Given the description of an element on the screen output the (x, y) to click on. 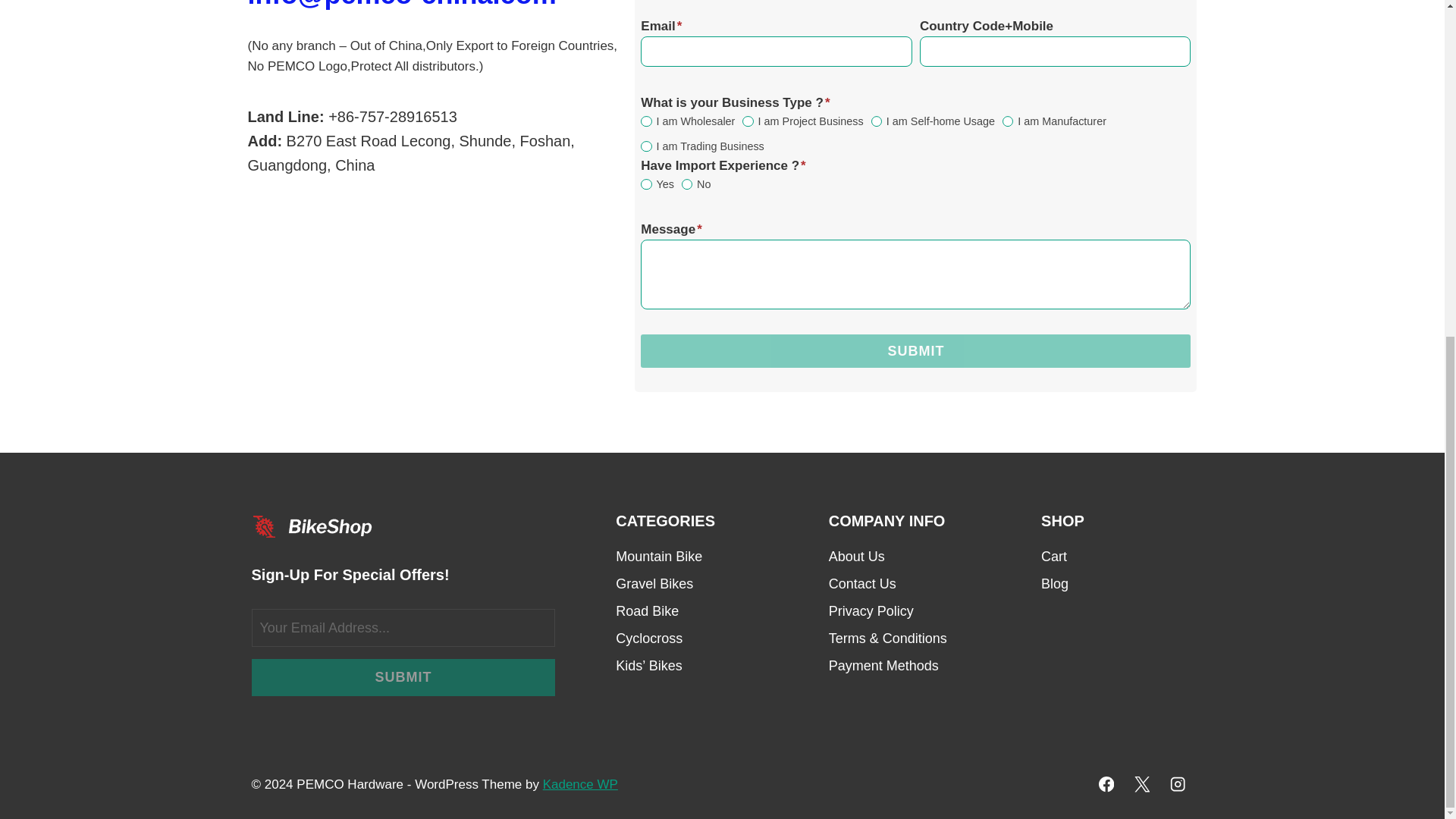
I am Project Business (747, 121)
I am Manufacturer (1008, 121)
I am Self-home Usage (876, 121)
Blog (1116, 584)
Privacy Policy (903, 611)
Road Bike (691, 611)
fghdfgh (645, 121)
Mountain Bike (691, 556)
Yes (645, 184)
I am Trading Business (645, 145)
